Given the description of an element on the screen output the (x, y) to click on. 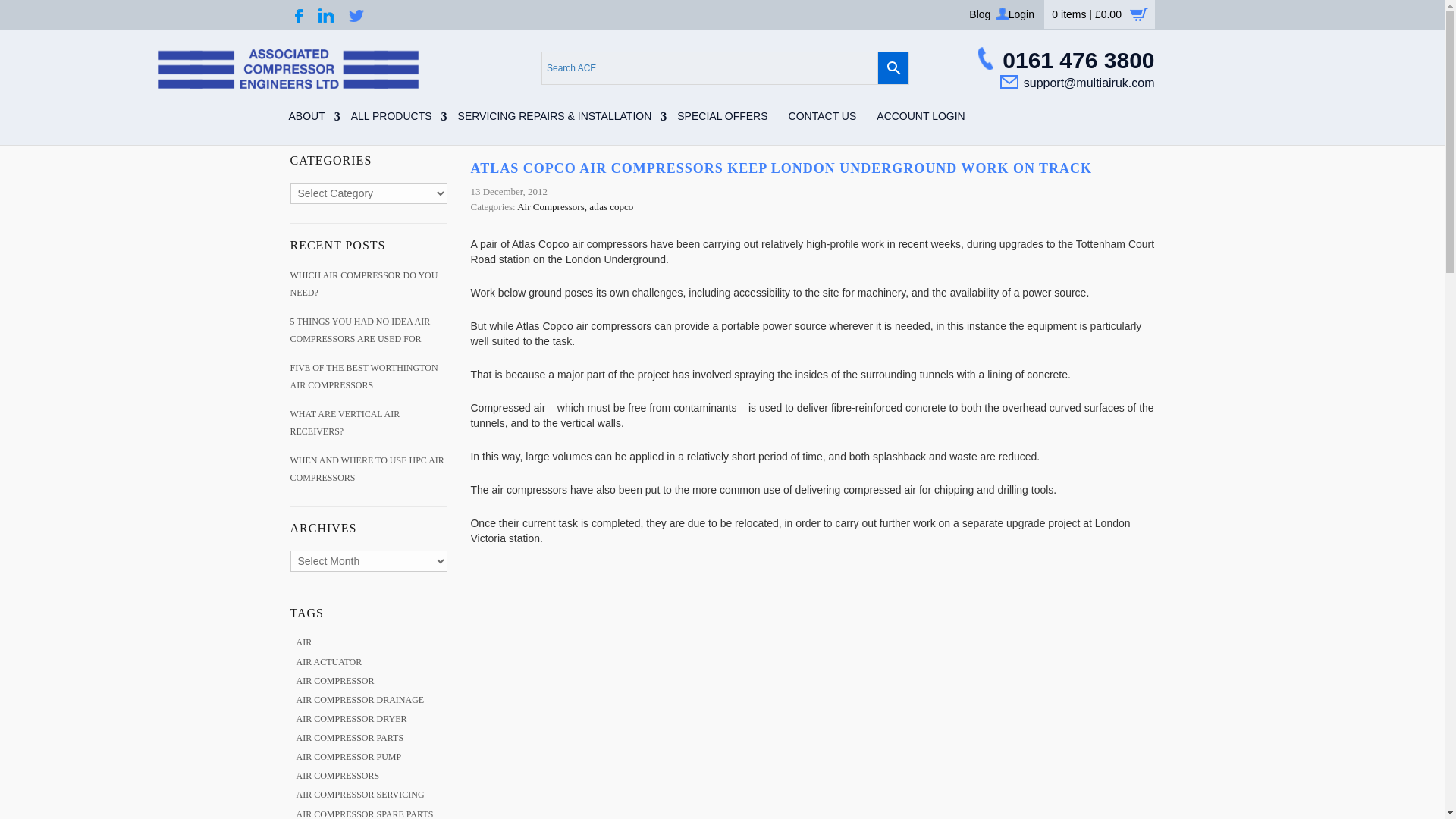
ABOUT (309, 121)
ALL PRODUCTS (393, 121)
0161 476 3800 (1065, 64)
Login (1021, 13)
Blog (979, 13)
